Given the description of an element on the screen output the (x, y) to click on. 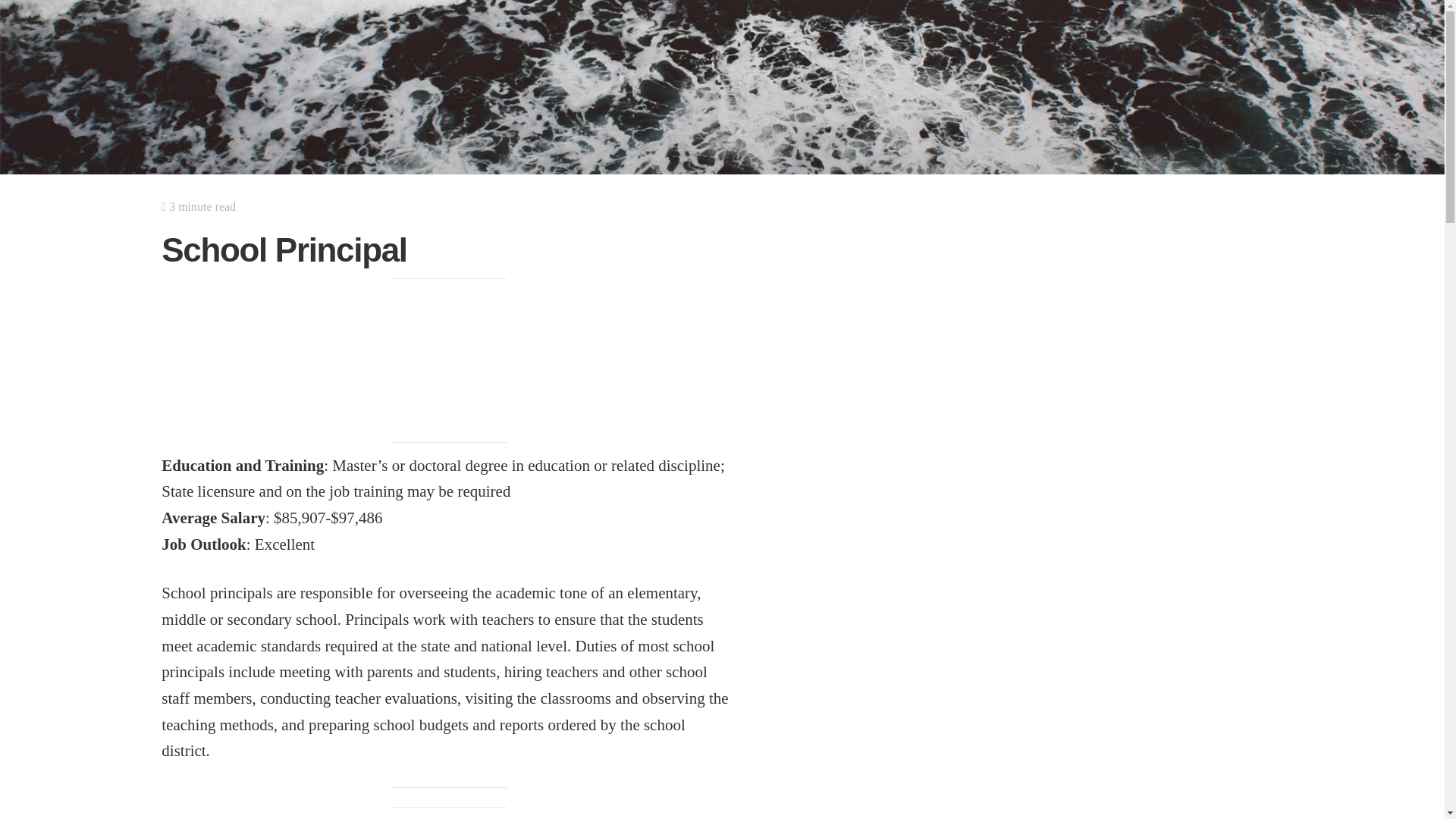
Advertisement (448, 361)
